Given the description of an element on the screen output the (x, y) to click on. 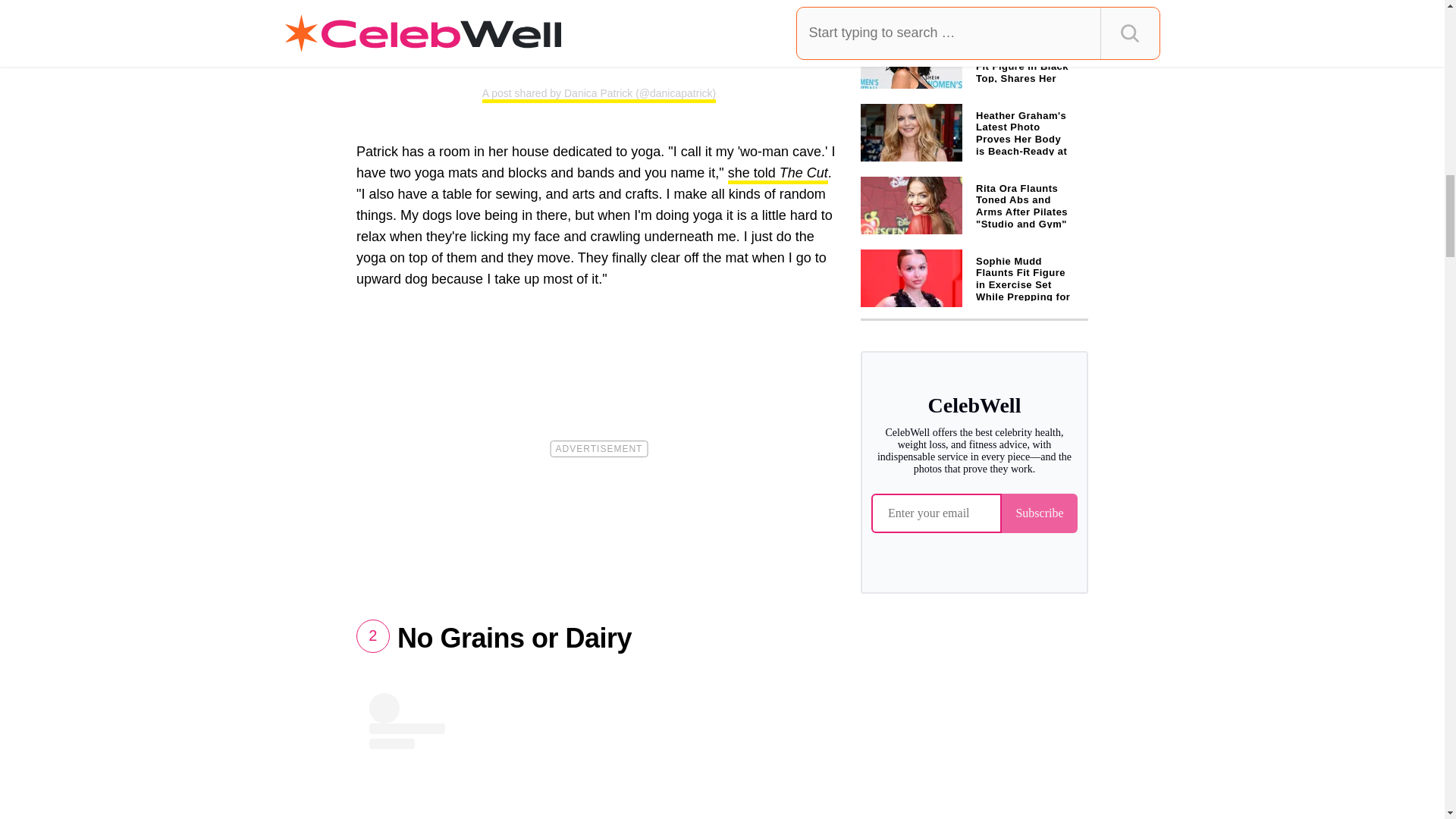
she told The Cut (778, 174)
View this post on Instagram (598, 31)
View this post on Instagram (598, 755)
